Given the description of an element on the screen output the (x, y) to click on. 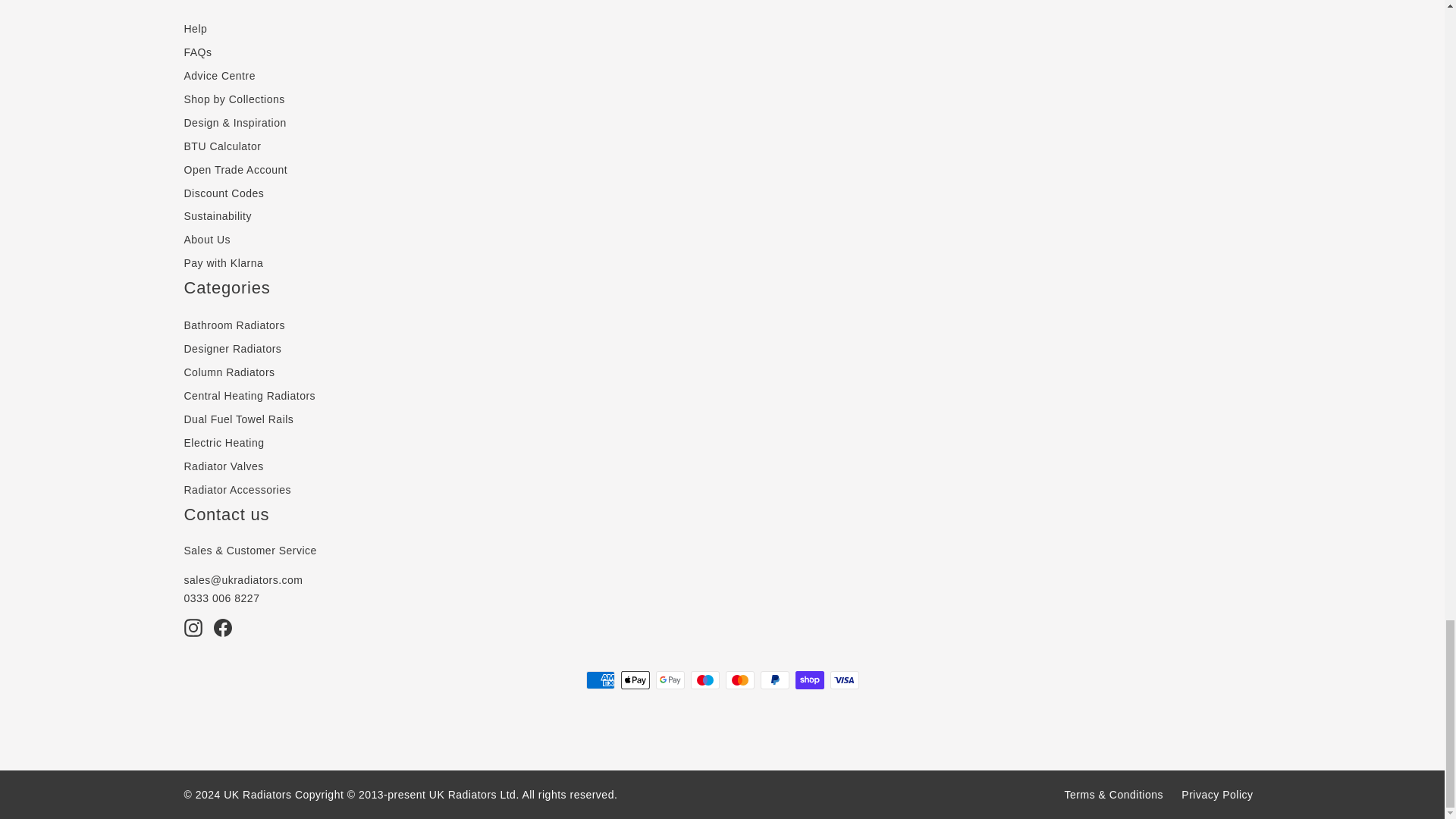
Shop Pay (809, 679)
UK Radiators on Facebook (222, 628)
Visa (844, 679)
American Express (599, 679)
UK Radiators on Instagram (192, 628)
Maestro (704, 679)
Apple Pay (634, 679)
instagram (192, 628)
tel:03330068227 (221, 598)
Mastercard (739, 679)
